Given the description of an element on the screen output the (x, y) to click on. 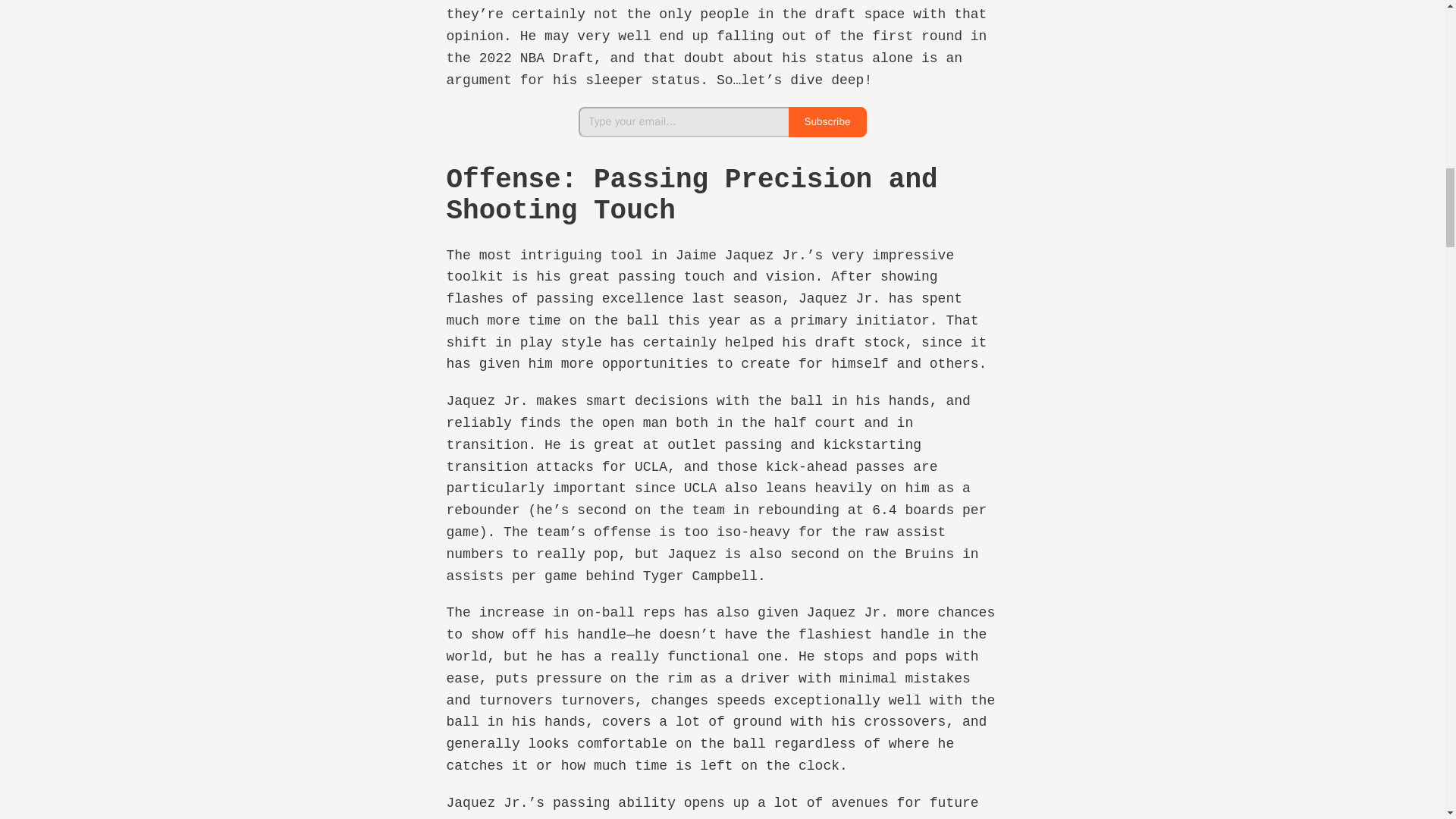
Subscribe (827, 121)
